Given the description of an element on the screen output the (x, y) to click on. 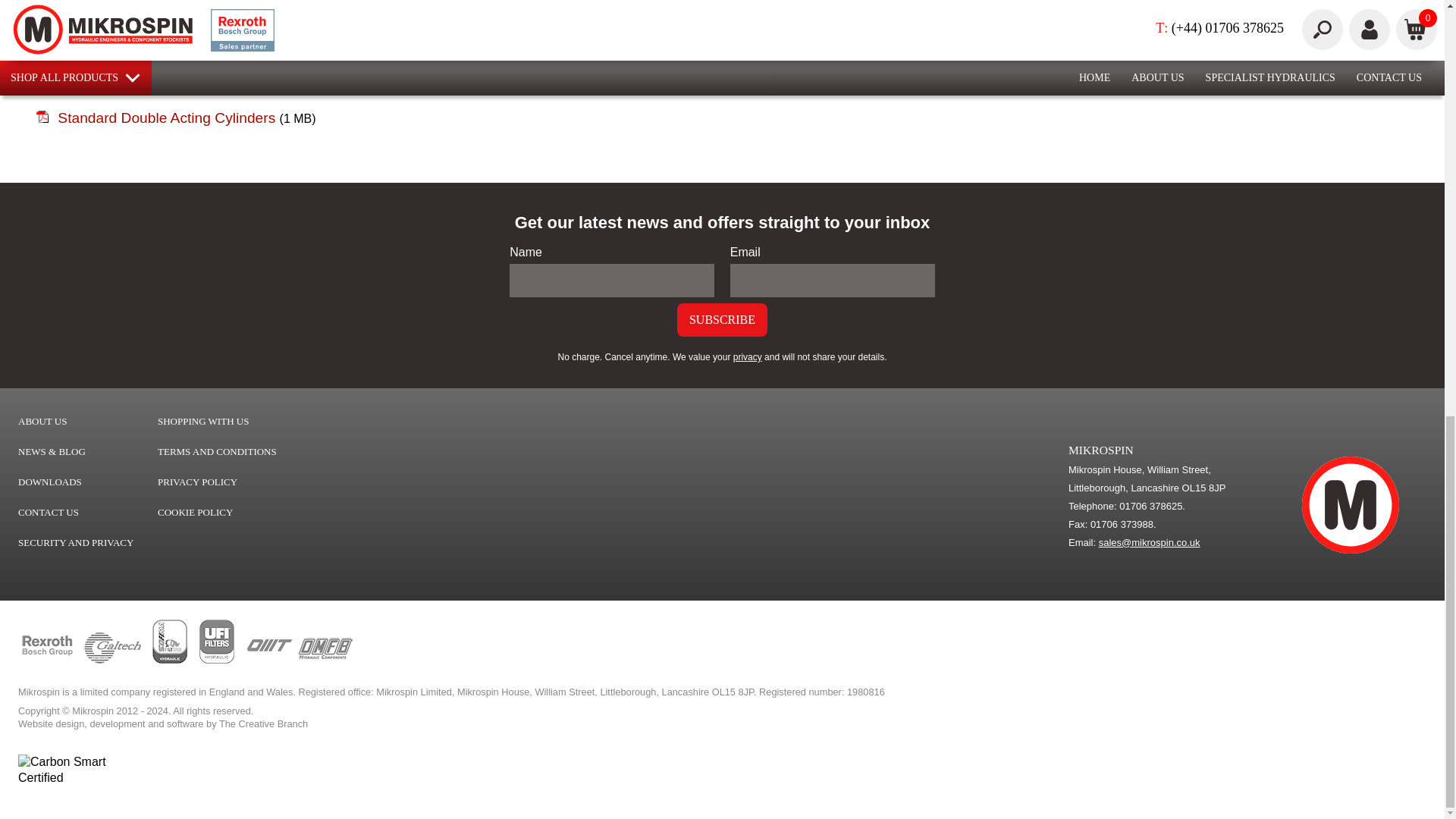
View all filters (216, 659)
View all Sofima products (170, 659)
Privacy policy (747, 357)
View all Bosch Rexroth products (47, 659)
View all OMT products (268, 659)
Subscribe (722, 319)
View all Galtech products (112, 659)
View all OMFB products (325, 659)
